Given the description of an element on the screen output the (x, y) to click on. 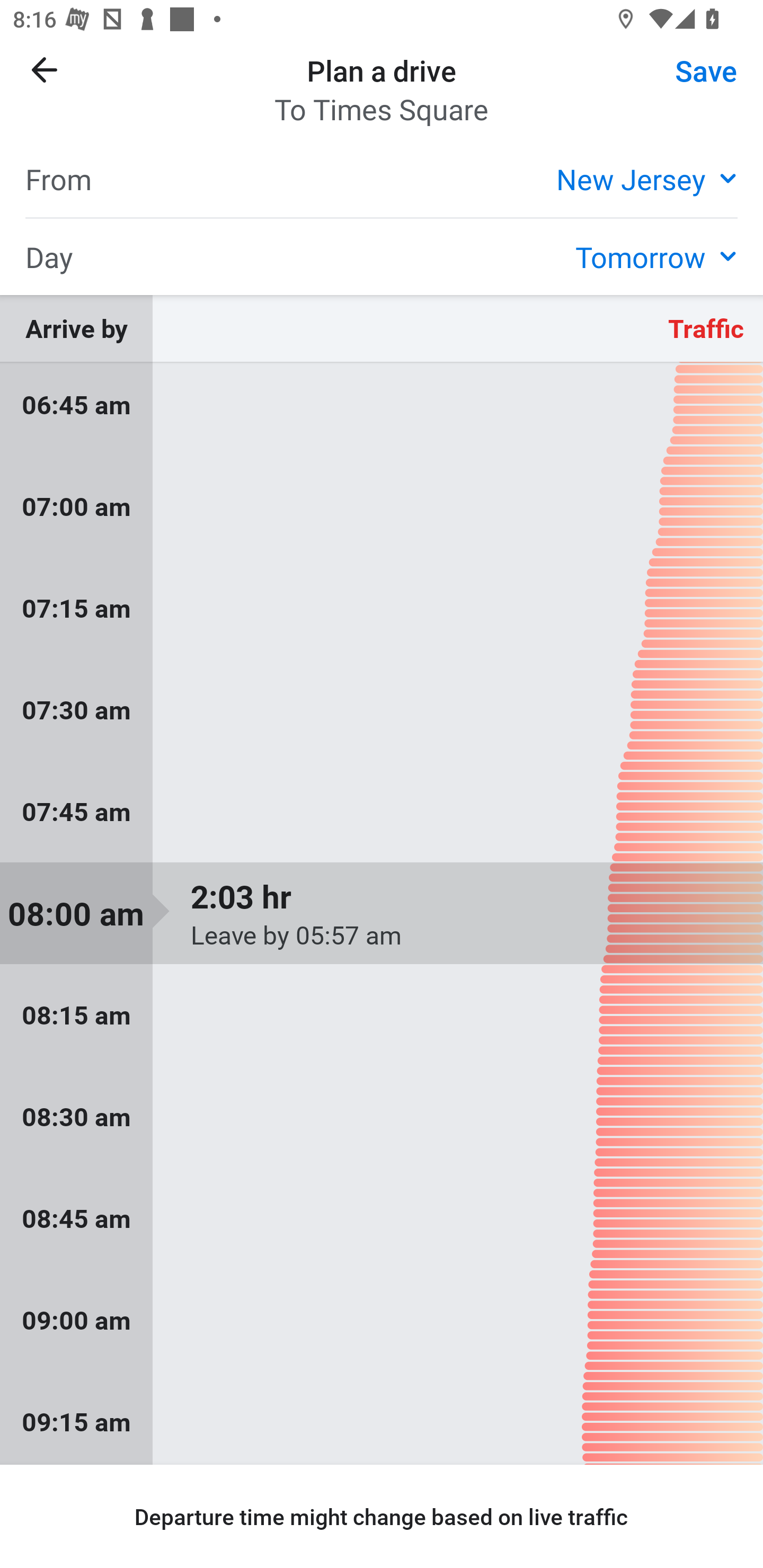
Save (706, 69)
New Jersey (646, 178)
Tomorrow (656, 255)
06:45 am (381, 409)
07:00 am (381, 506)
07:15 am (381, 607)
07:30 am (381, 709)
07:45 am (381, 811)
08:00 am 2:03 hr Leave by 05:57 am (381, 913)
08:15 am (381, 1015)
08:30 am (381, 1117)
08:45 am (381, 1218)
09:00 am (381, 1319)
09:15 am (381, 1417)
